Given the description of an element on the screen output the (x, y) to click on. 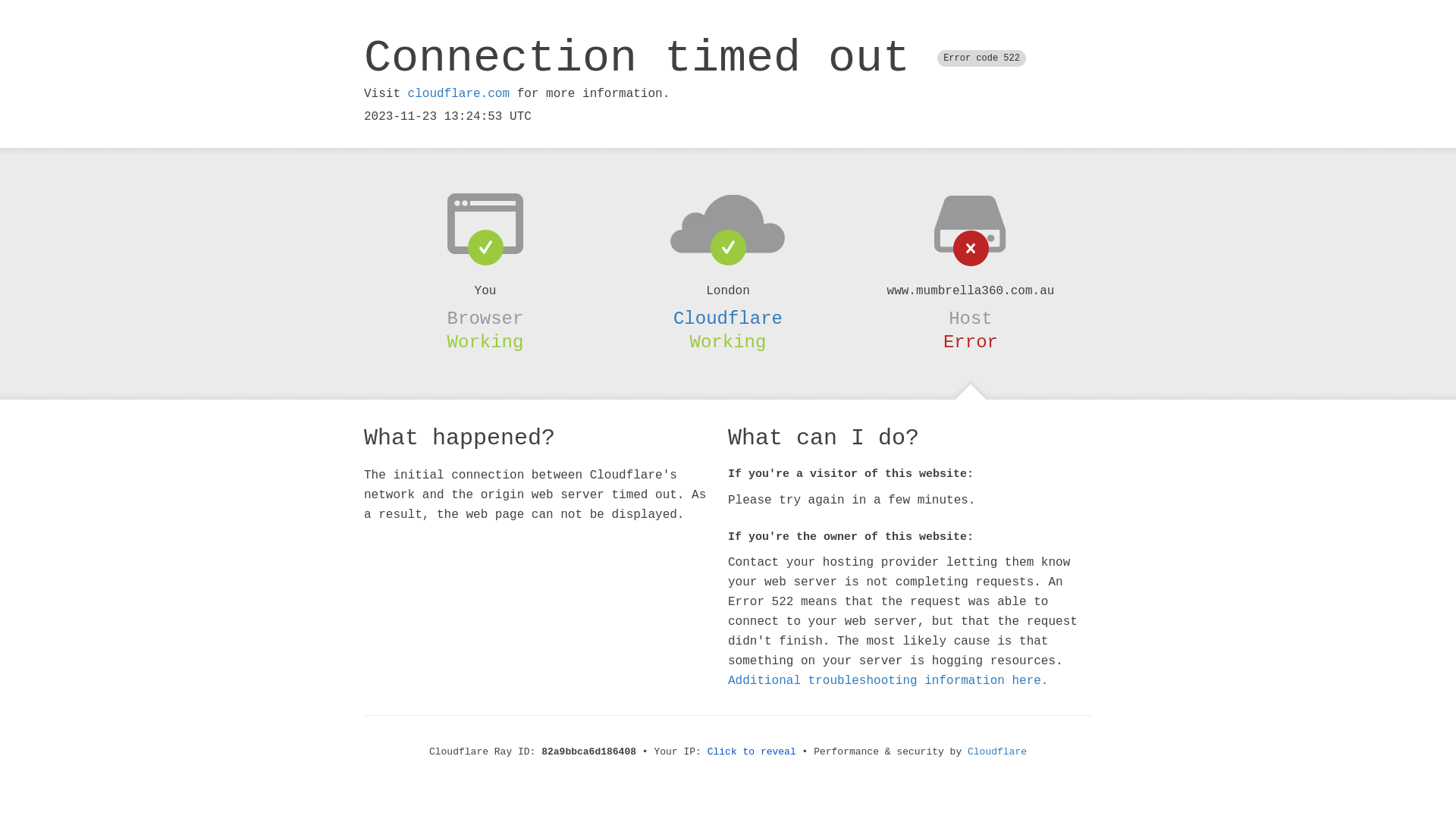
Cloudflare Element type: text (727, 318)
Additional troubleshooting information here. Element type: text (888, 680)
cloudflare.com Element type: text (458, 93)
Click to reveal Element type: text (751, 751)
Cloudflare Element type: text (996, 751)
